Given the description of an element on the screen output the (x, y) to click on. 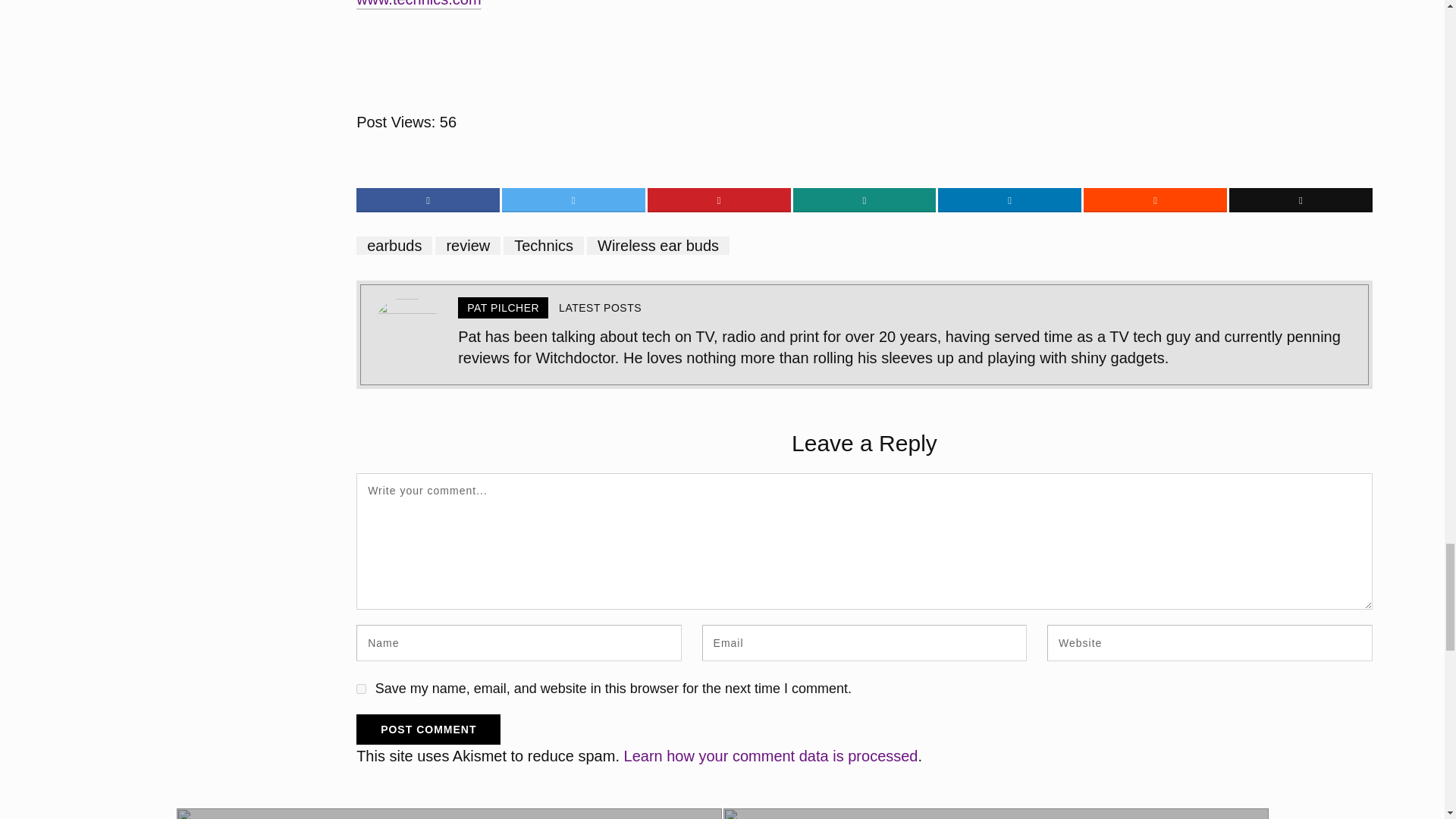
yes (361, 688)
Post Comment (428, 729)
